Given the description of an element on the screen output the (x, y) to click on. 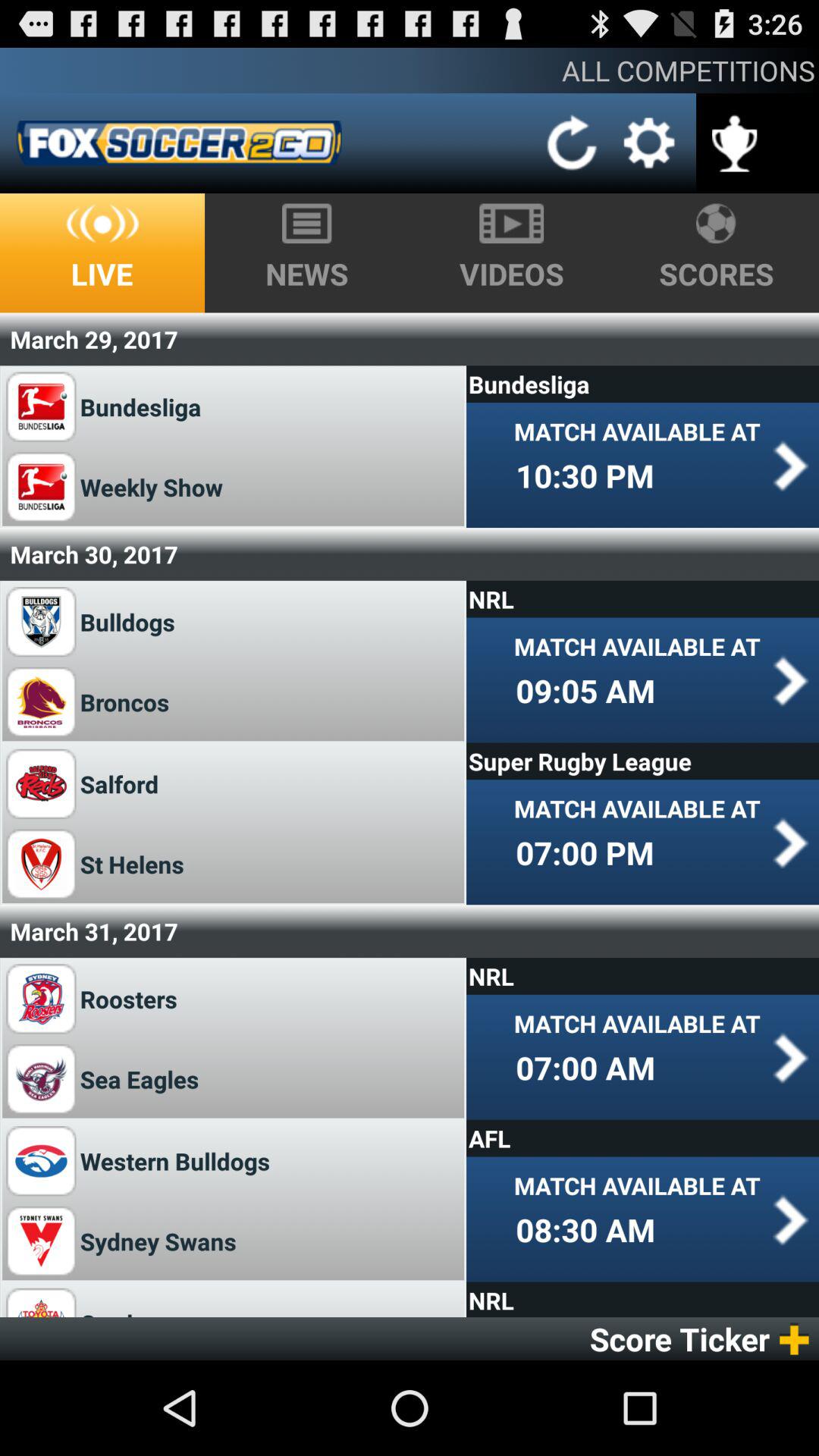
jump to the roosters item (128, 998)
